Given the description of an element on the screen output the (x, y) to click on. 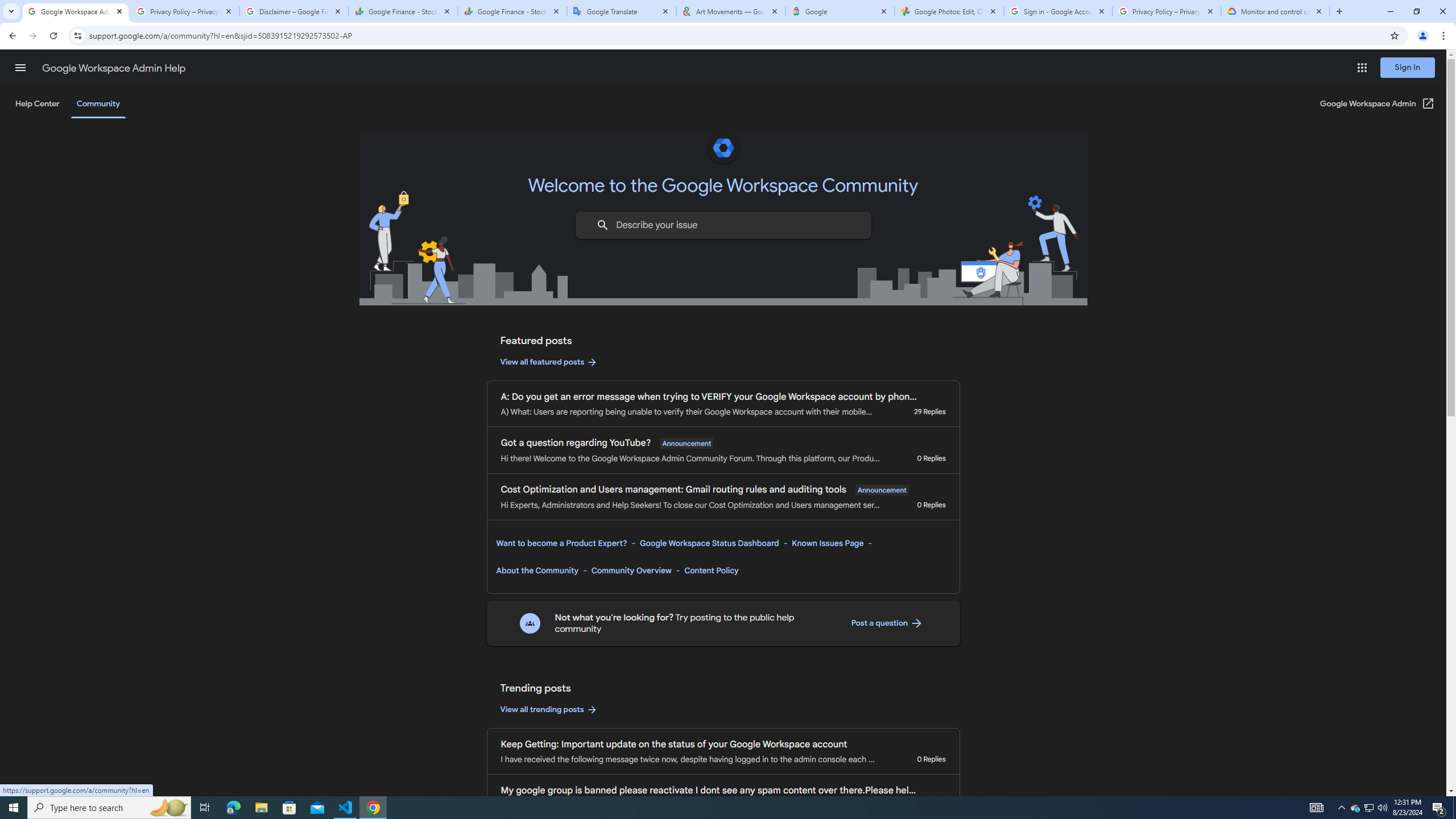
Google Translate (621, 11)
Google Workspace Admin (Open in a new window) (1377, 103)
Google (839, 11)
Known Issues Page (827, 542)
Want to become a Product Expert? (561, 542)
View all featured posts (548, 361)
